Given the description of an element on the screen output the (x, y) to click on. 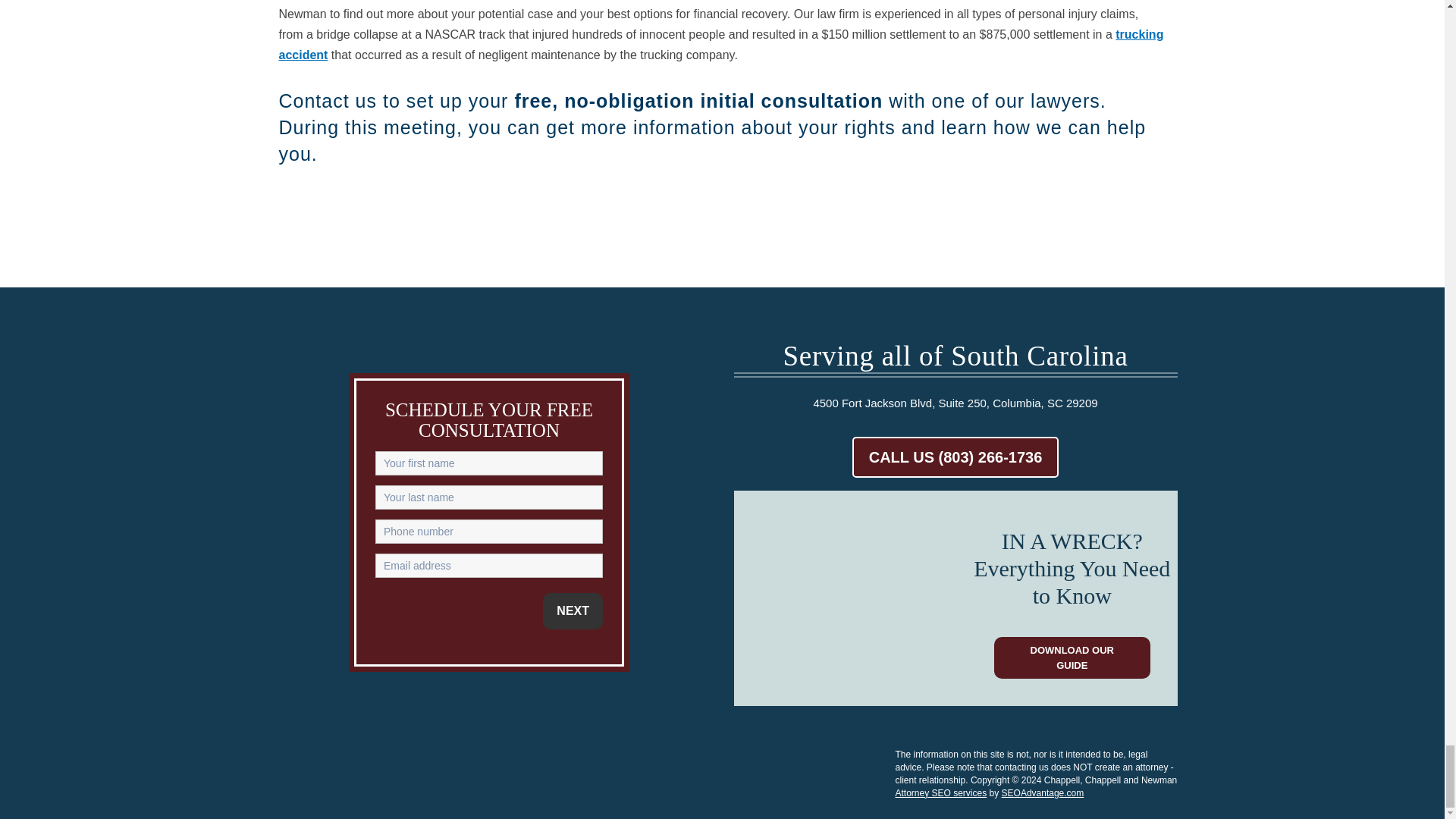
Next (572, 610)
